Given the description of an element on the screen output the (x, y) to click on. 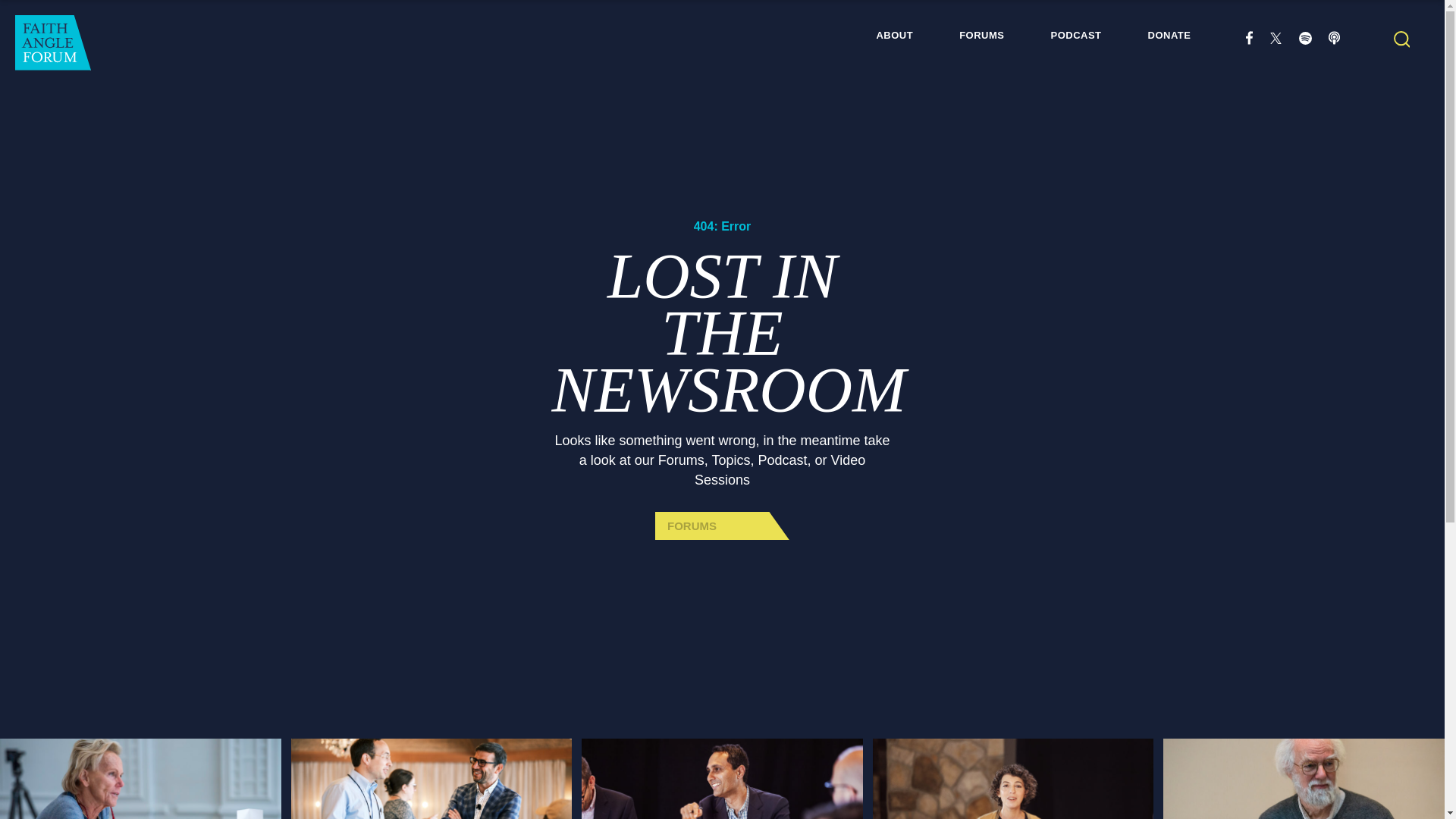
DONATE (1169, 34)
FORUMS (722, 525)
FORUMS (981, 34)
FORUMS (722, 525)
ABOUT (894, 34)
PODCAST (1076, 34)
